Given the description of an element on the screen output the (x, y) to click on. 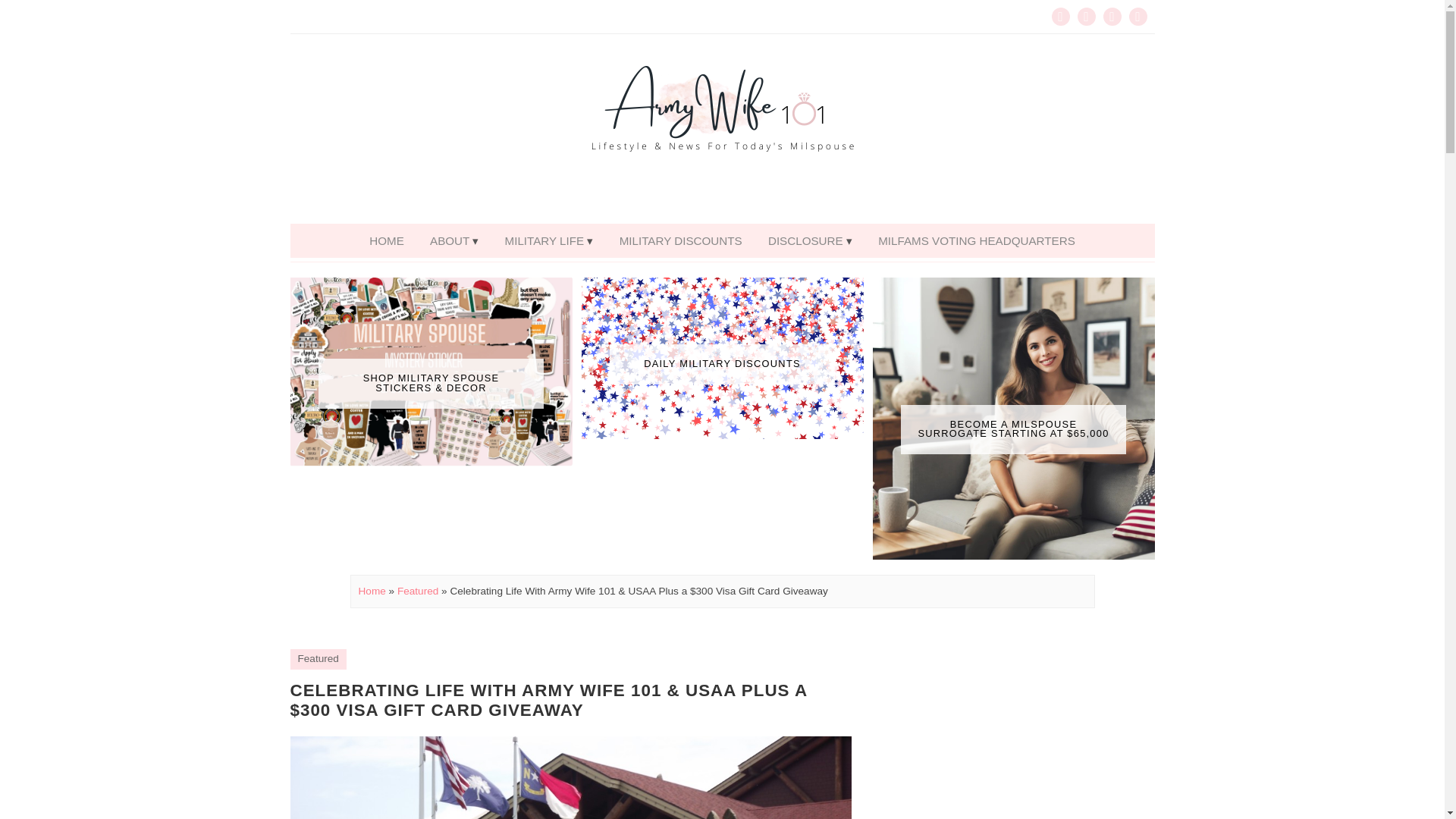
HOME (386, 240)
Featured (417, 591)
MILITARY LIFE (549, 240)
MILFAMS VOTING HEADQUARTERS (976, 240)
Featured (317, 658)
DISCLOSURE (810, 240)
Home (371, 591)
ABOUT (454, 240)
MILITARY DISCOUNTS (681, 240)
